Given the description of an element on the screen output the (x, y) to click on. 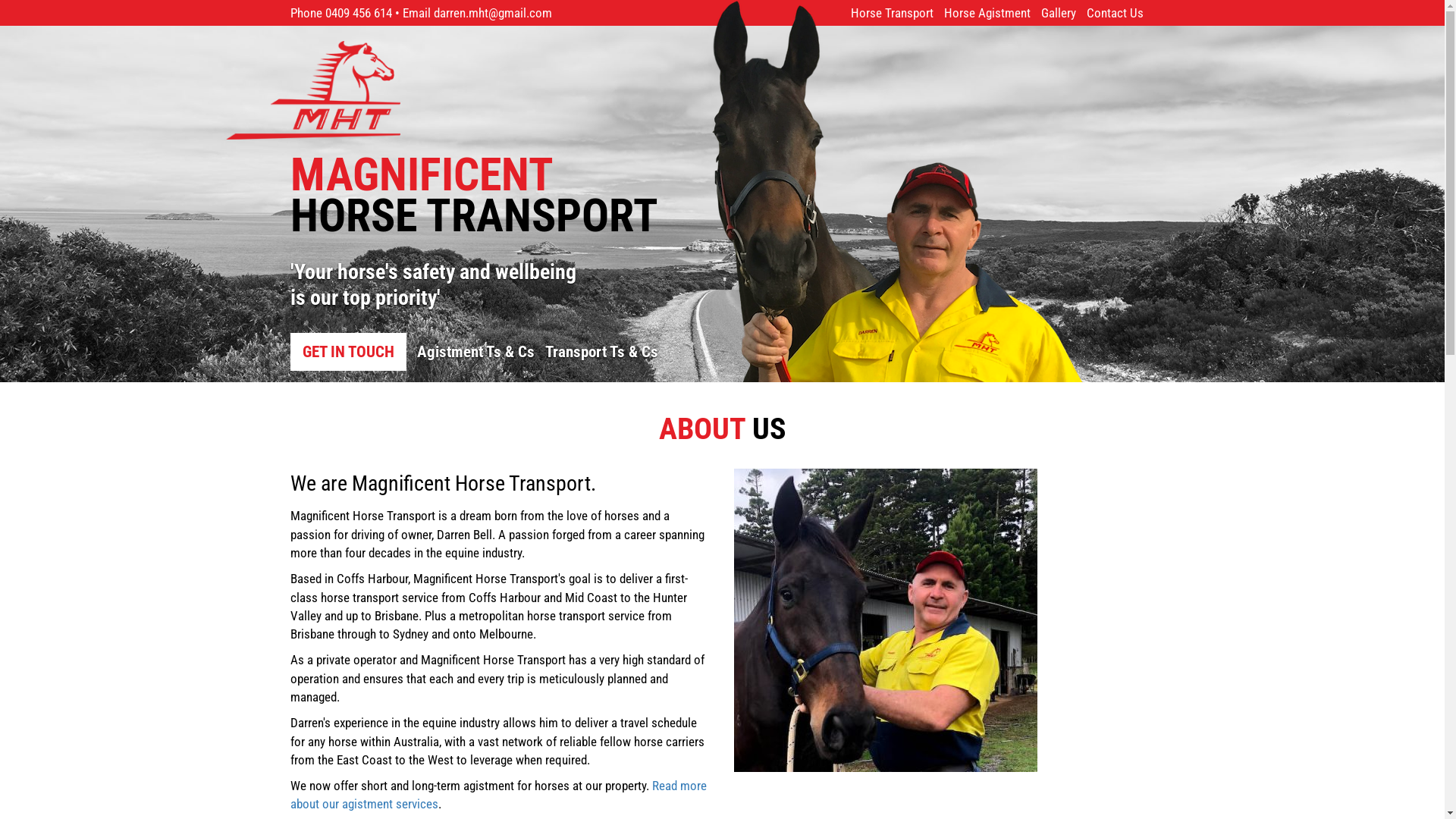
Transport Ts & Cs Element type: text (600, 351)
Agistment Ts & Cs Element type: text (475, 351)
GET IN TOUCH Element type: text (347, 351)
Contact Us Element type: text (1113, 12)
Horse Agistment Element type: text (986, 12)
Read more about our agistment services Element type: text (497, 794)
Gallery Element type: text (1057, 12)
Magnificent Horse Transport Element type: hover (468, 89)
darren.mht@gmail.com Element type: text (492, 12)
0409 456 614 Element type: text (357, 12)
Horse Transport Element type: text (891, 12)
